Given the description of an element on the screen output the (x, y) to click on. 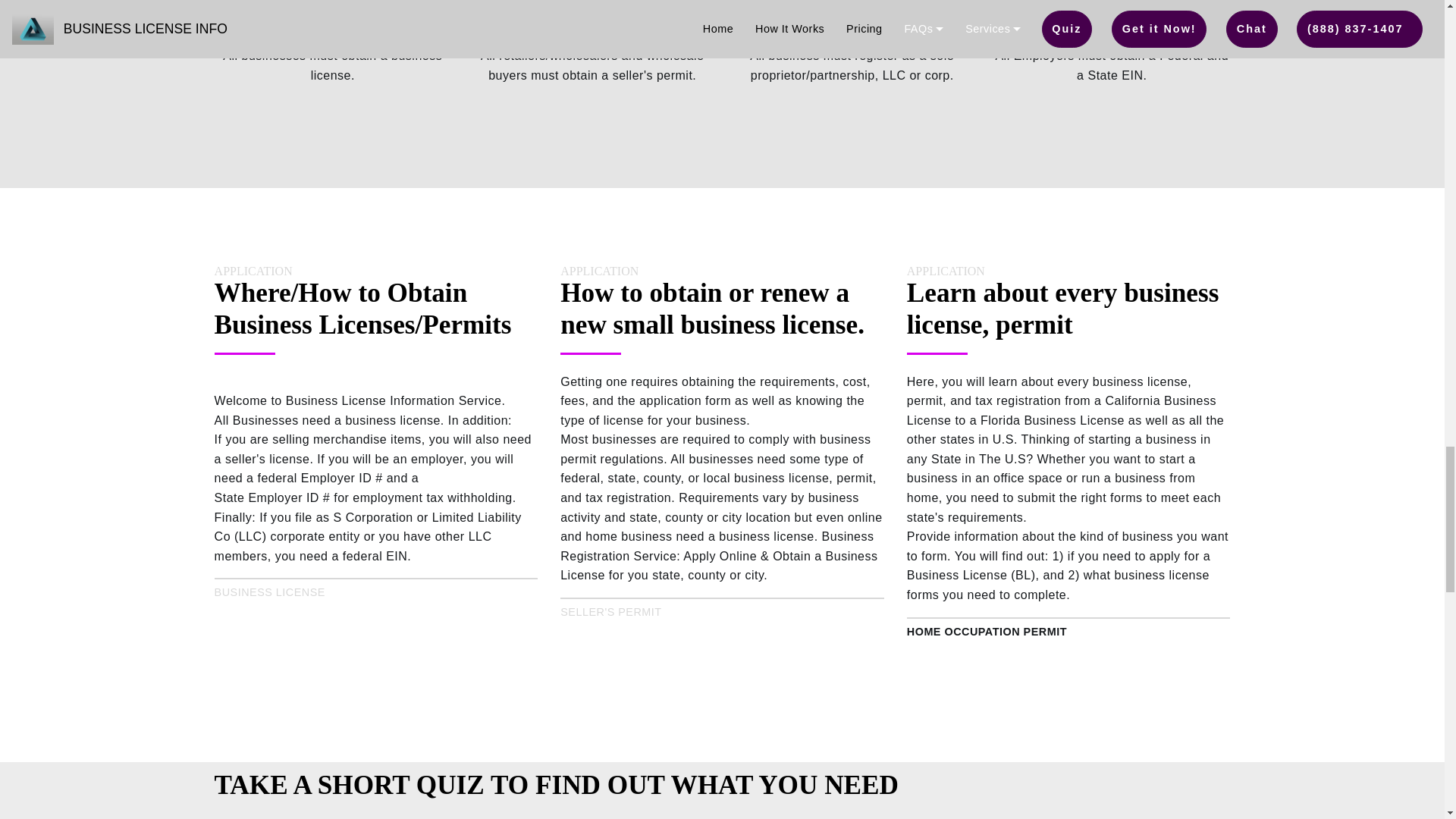
BUSINESS LICENSE (269, 592)
APPLICATION (946, 270)
APPLICATION (253, 270)
SELLER'S PERMIT (610, 612)
APPLICATION (599, 270)
